Given the description of an element on the screen output the (x, y) to click on. 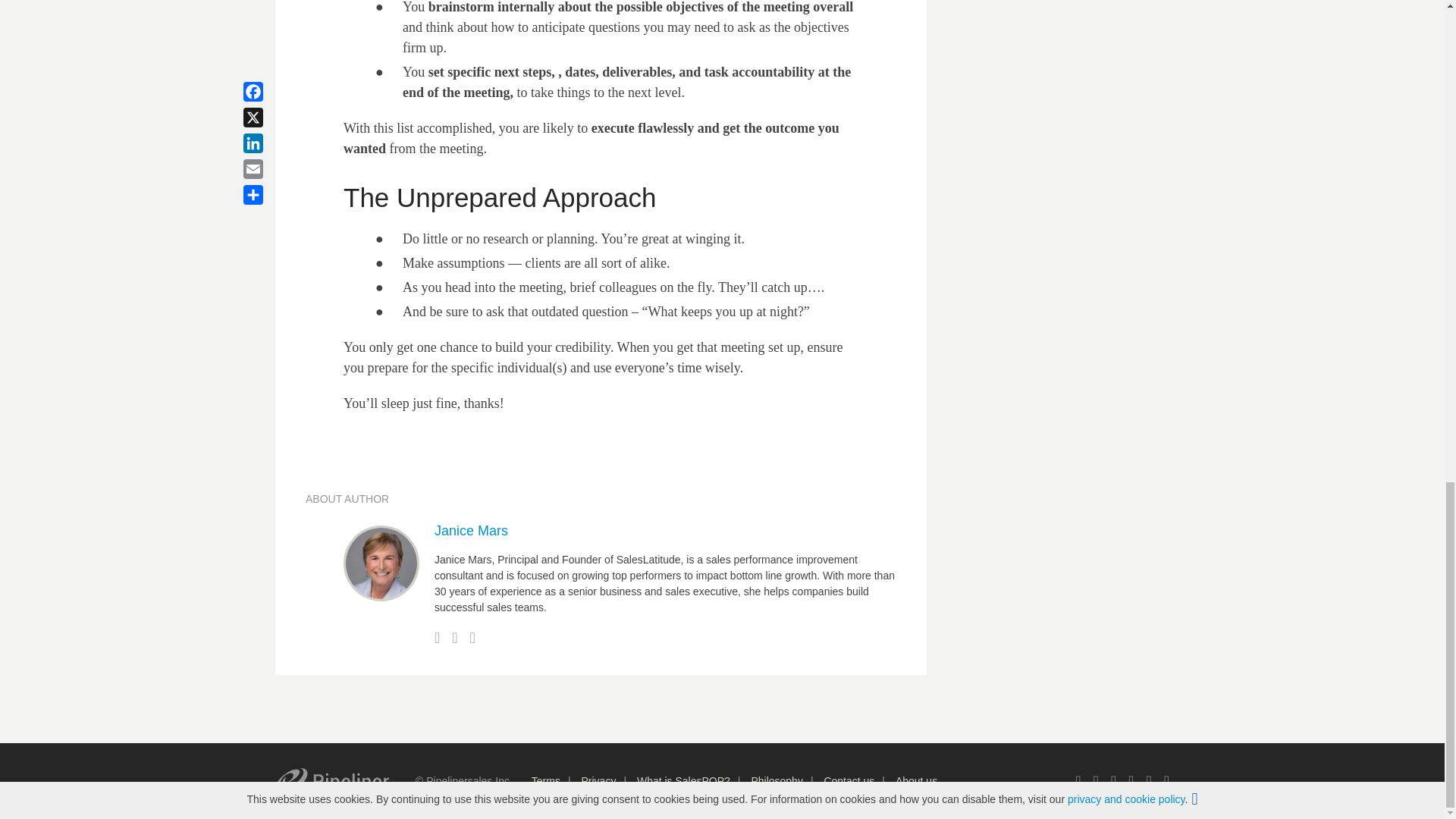
YouTube (1148, 781)
Twitter (1095, 781)
Linktree (1077, 781)
Janice Mars (470, 530)
Facebook (1113, 781)
LinkedIn (1131, 781)
Instagram (1166, 781)
